Given the description of an element on the screen output the (x, y) to click on. 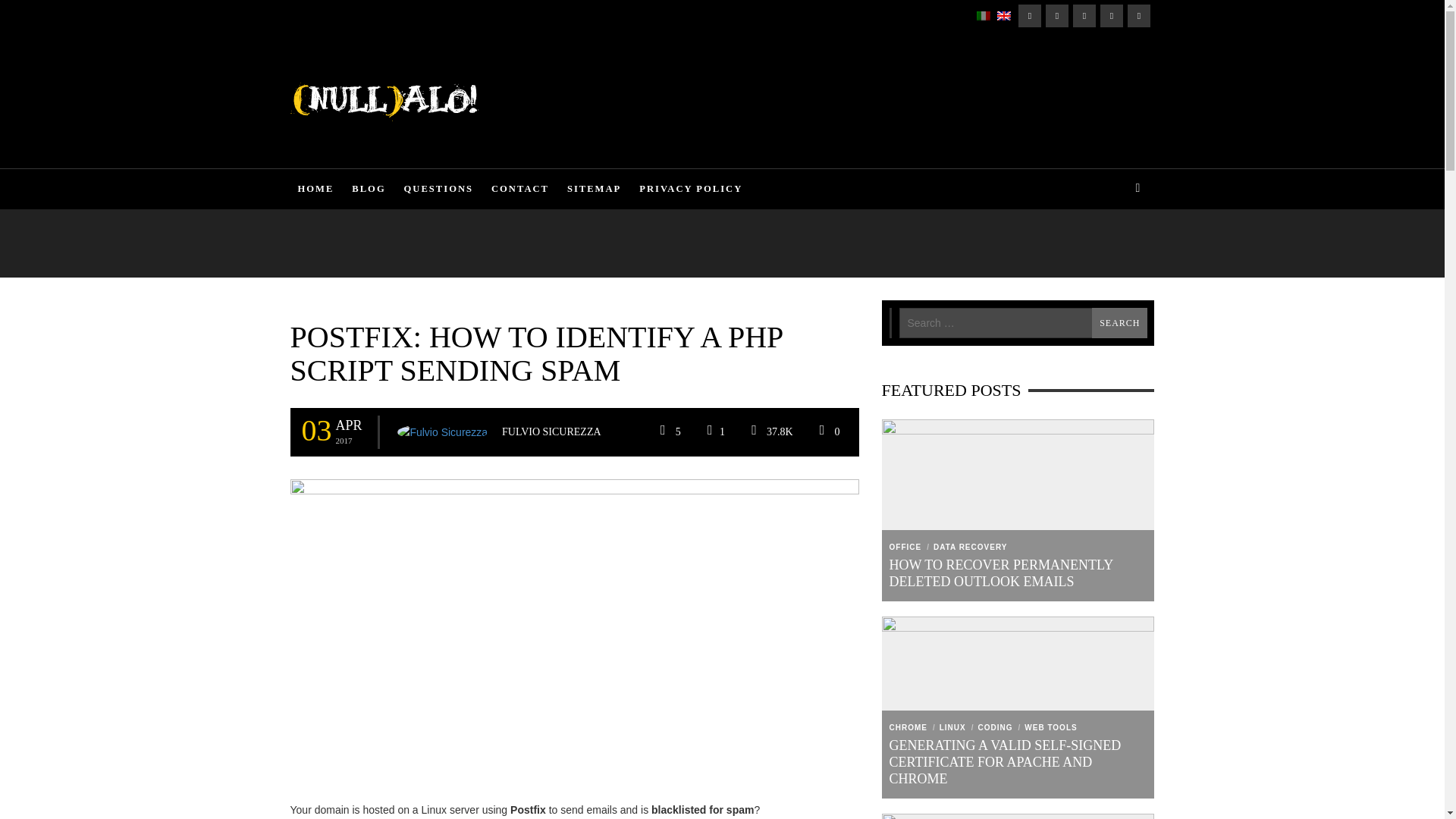
Search (1119, 322)
I like this (714, 431)
Facebook (1029, 15)
YouTube (1138, 15)
Postfix: How to identify a PHP script sending spam (574, 627)
View all posts in Linux (306, 306)
HOME (310, 15)
SITEMAP (532, 15)
RSS (1082, 15)
Search (1119, 322)
